Given the description of an element on the screen output the (x, y) to click on. 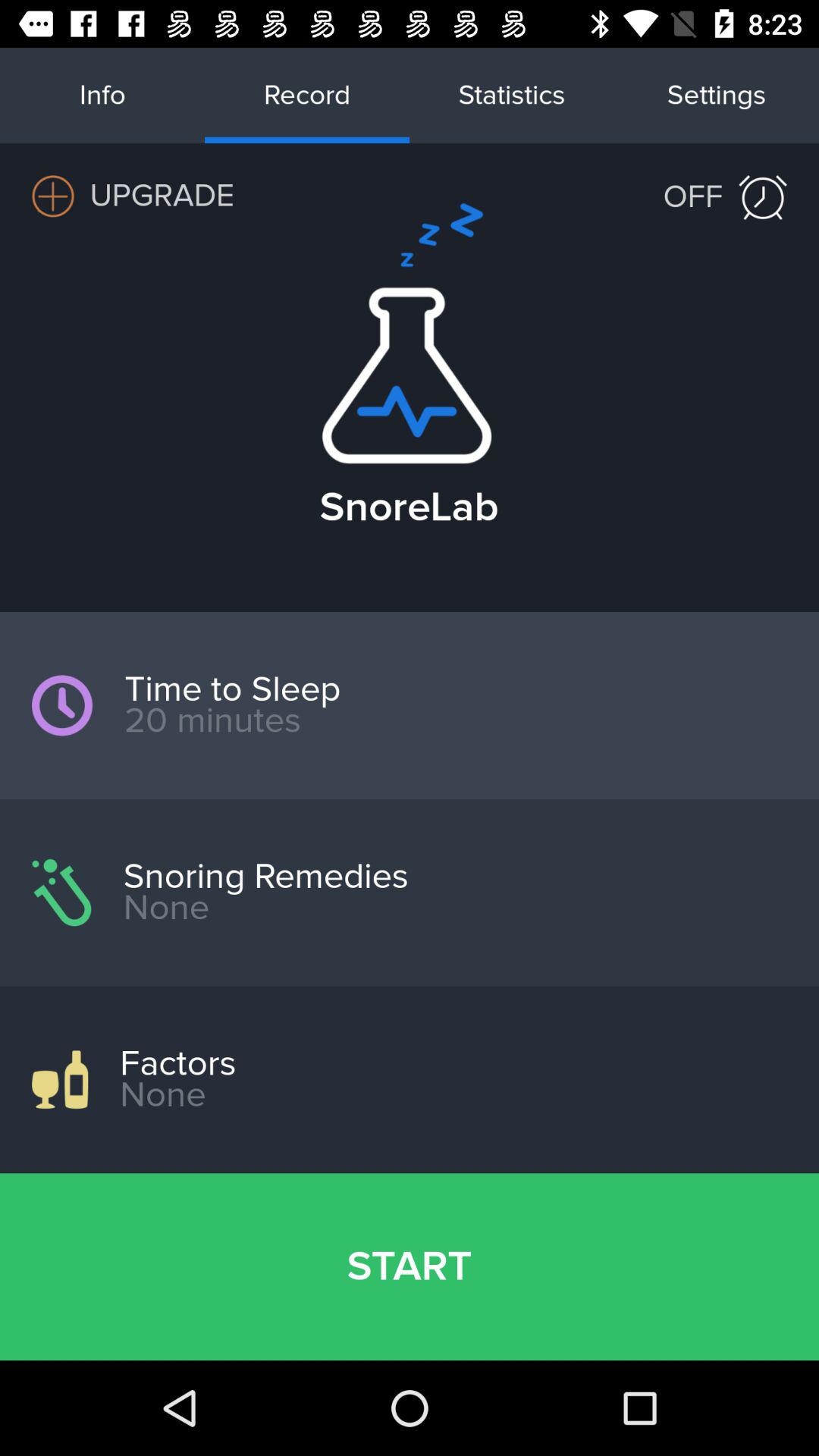
click on the image next to off (762, 196)
click on icon on the right side of off (762, 196)
click on the statistics (511, 95)
select the text right to info (306, 95)
